Given the description of an element on the screen output the (x, y) to click on. 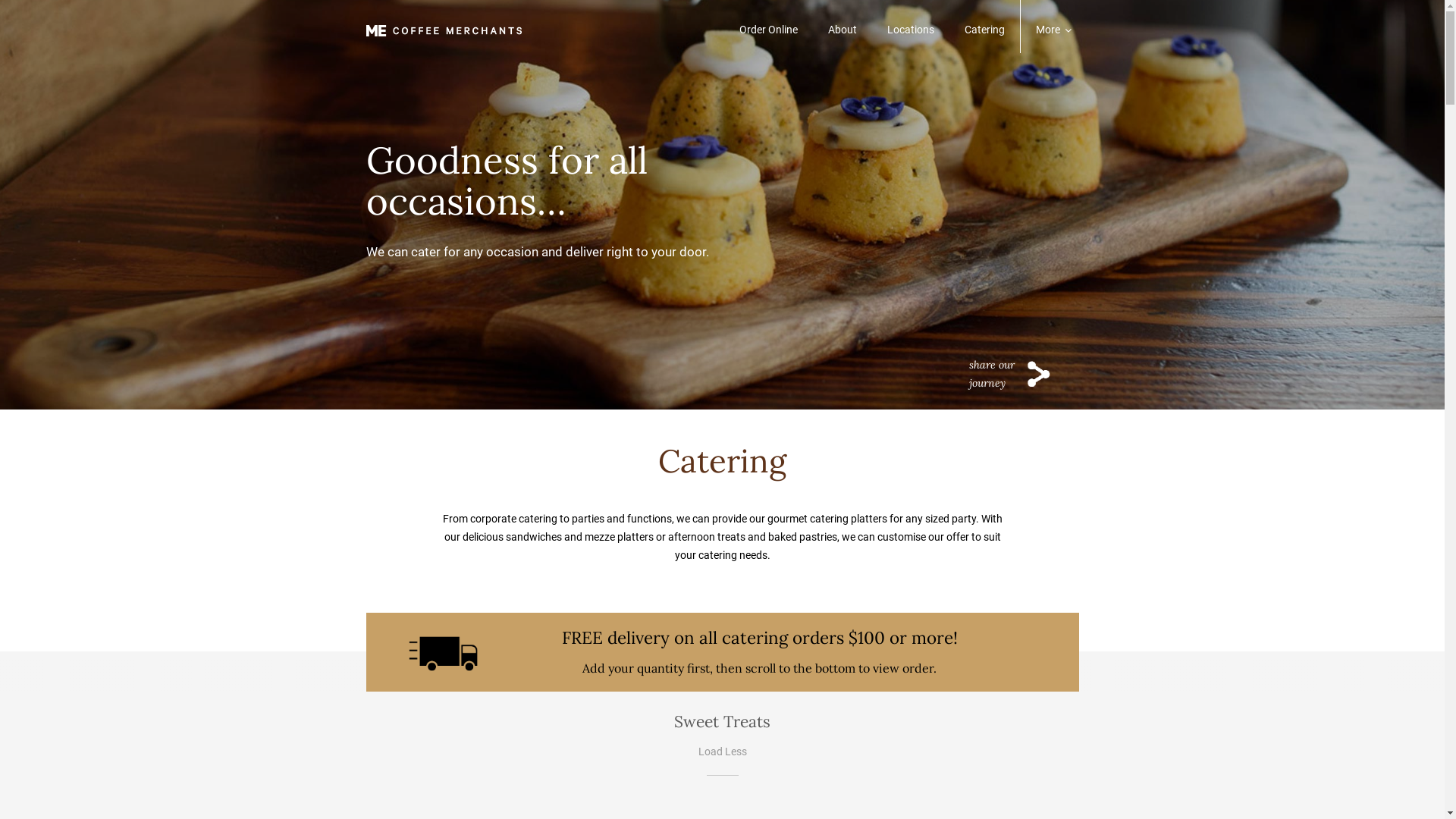
About Element type: text (842, 28)
Order Online Element type: text (767, 28)
Cafe - Breakfast, Brunch, Lunch and Afternoon Tea Element type: hover (442, 26)
Catering Element type: text (984, 28)
More Element type: text (1049, 28)
Locations Element type: text (910, 28)
